Given the description of an element on the screen output the (x, y) to click on. 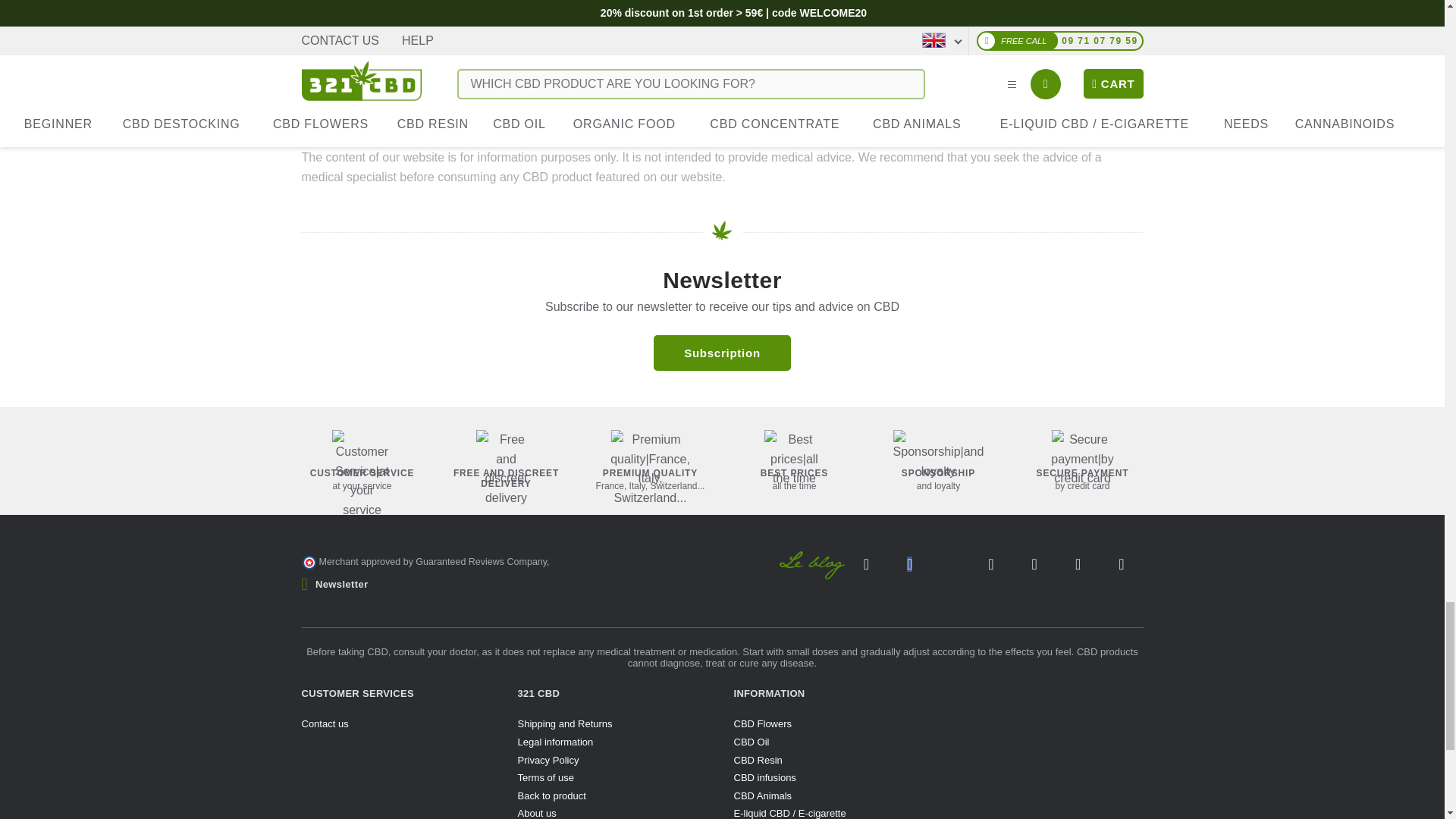
Newsletter	 (334, 583)
Le blog (811, 565)
Newsletter (721, 352)
